Given the description of an element on the screen output the (x, y) to click on. 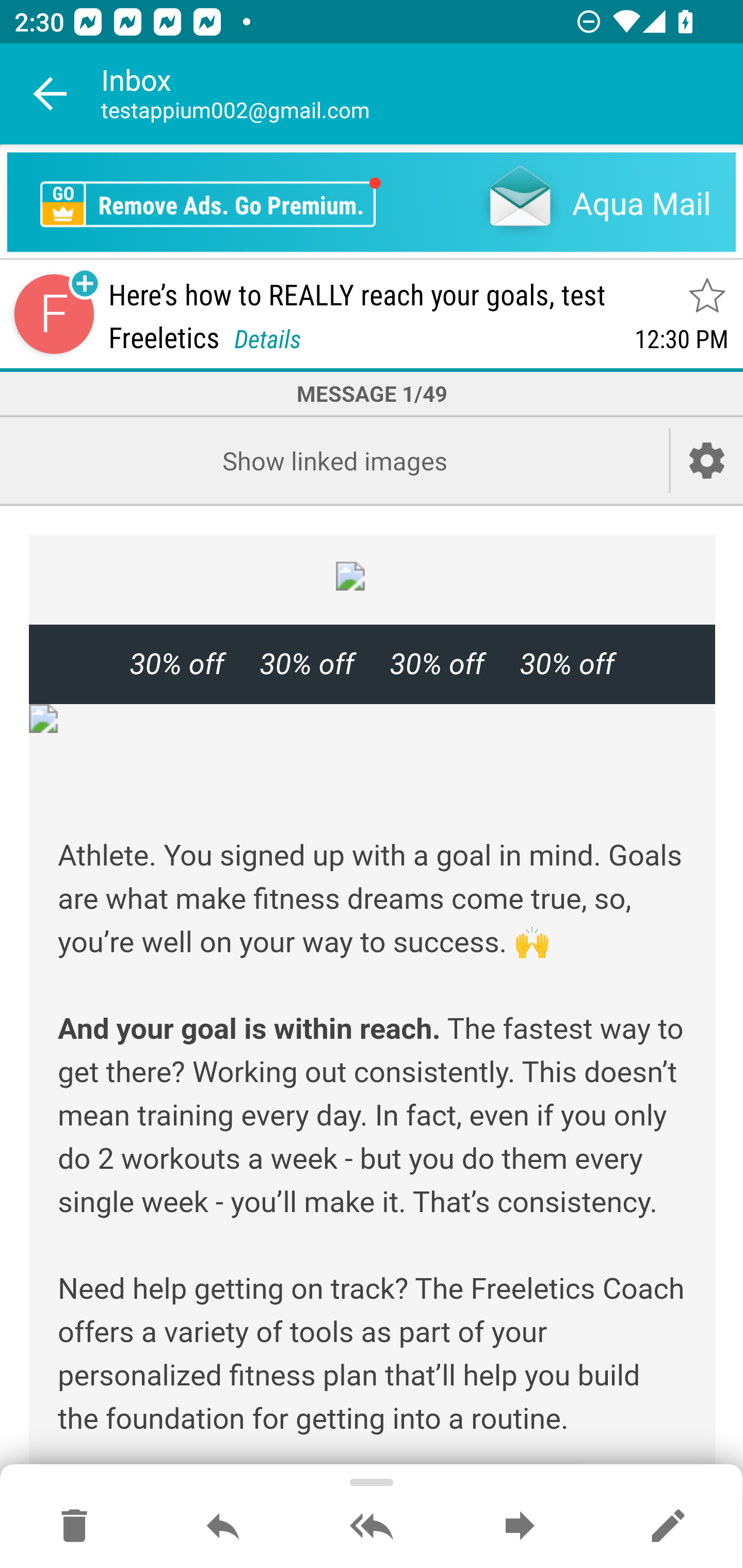
Navigate up (50, 93)
Inbox testappium002@gmail.com (422, 93)
Sender contact button (53, 314)
Show linked images (334, 460)
Account setup (706, 460)
data: (372, 575)
30% off     30% off     30% off     30% off (371, 664)
data: (372, 718)
Move to Deleted (74, 1527)
Reply (222, 1527)
Reply all (371, 1527)
Forward (519, 1527)
Reply as new (667, 1527)
